Given the description of an element on the screen output the (x, y) to click on. 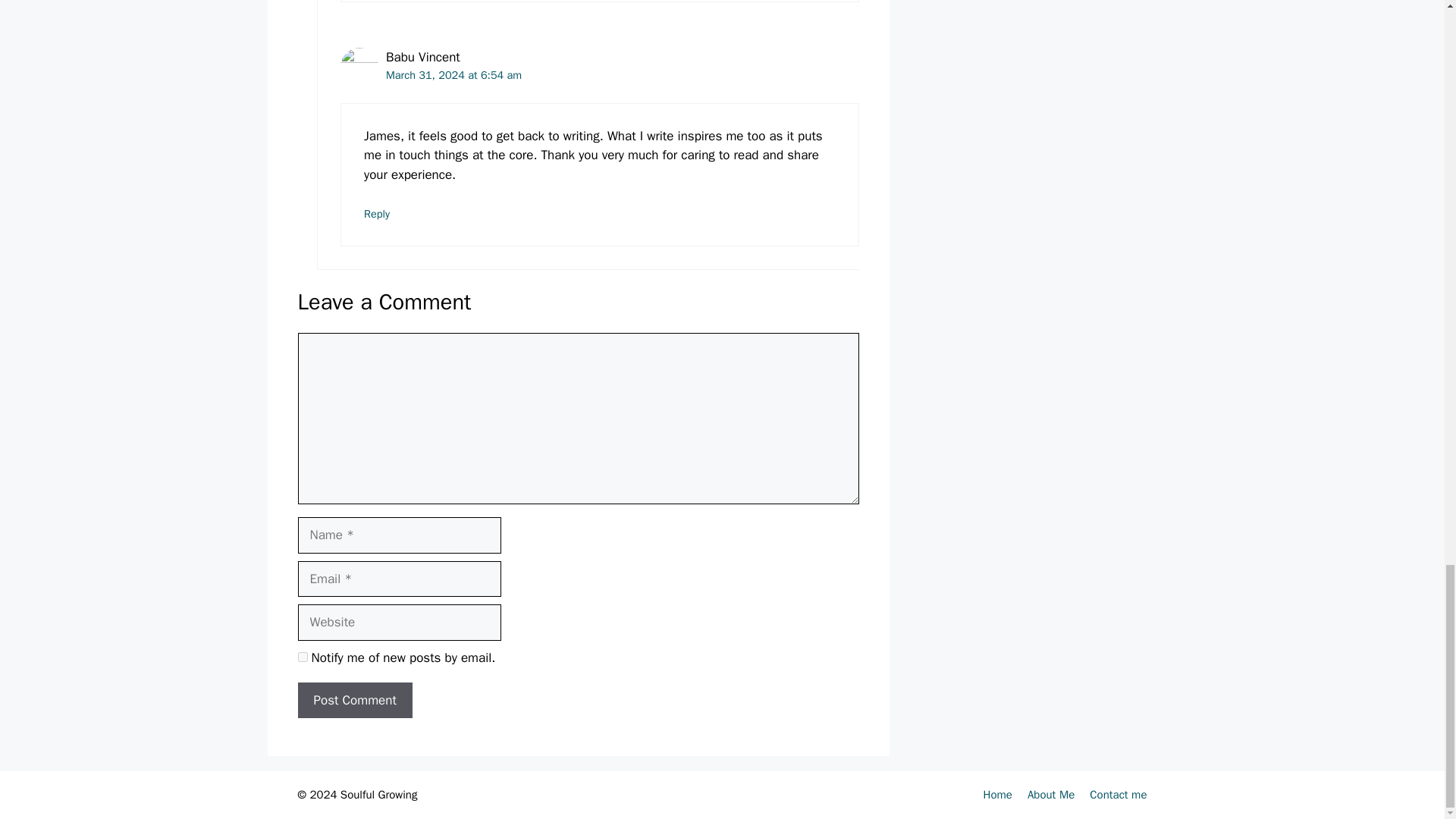
Contact me (1118, 794)
Home (997, 794)
Post Comment (354, 700)
subscribe (302, 656)
Reply (377, 213)
March 31, 2024 at 6:54 am (453, 74)
About Me (1050, 794)
Post Comment (354, 700)
